Given the description of an element on the screen output the (x, y) to click on. 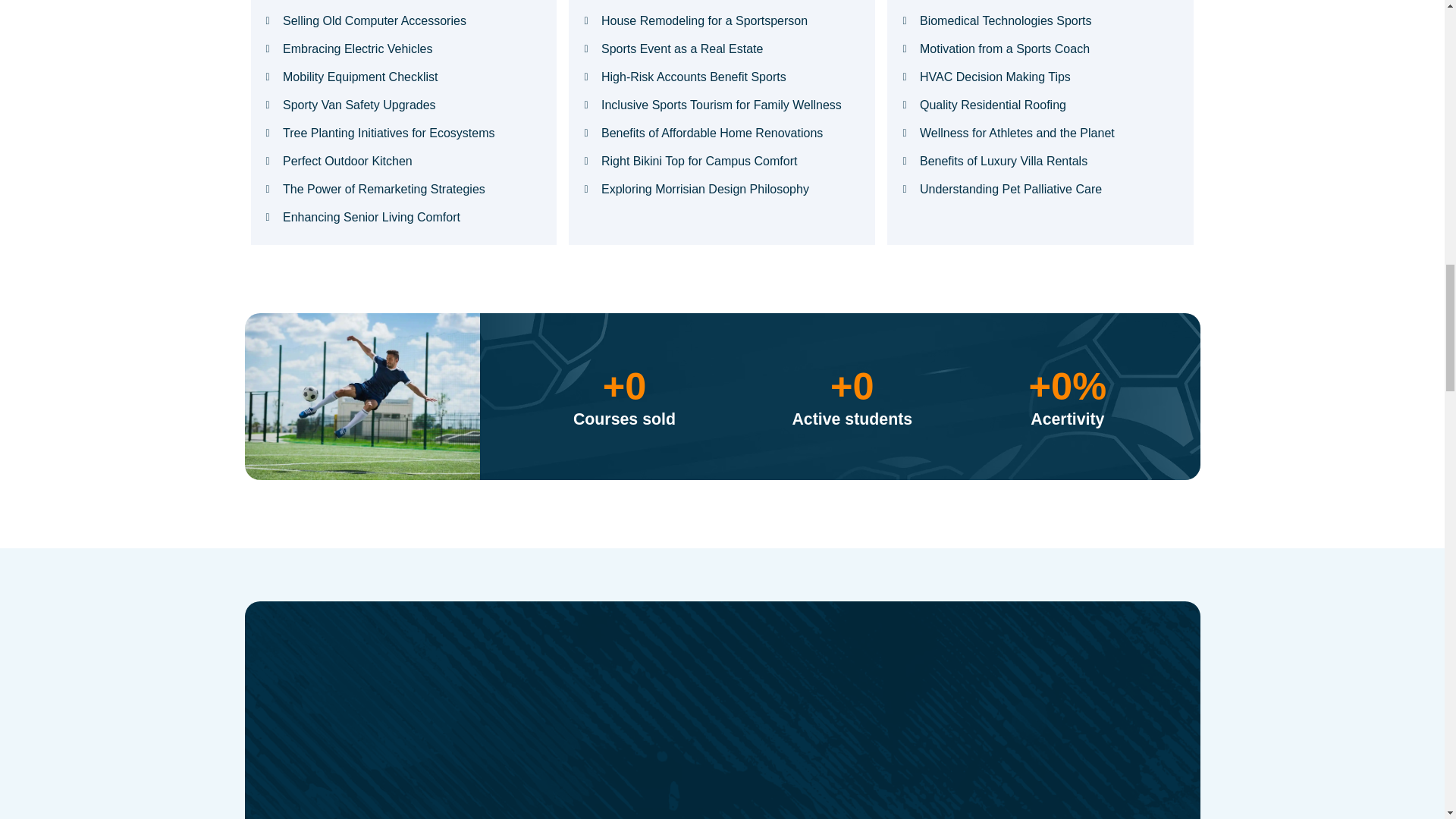
Quality Residential Roofing (1039, 105)
Sports Event as a Real Estate (721, 48)
Wellness for Athletes and the Planet (1039, 133)
Right Bikini Top for Campus Comfort (721, 161)
Stretching Is Damaging Your Running (402, 2)
Baseball Equipment for Runners (1039, 2)
Tree Planting Initiatives for Ecosystems (402, 133)
Mobility Equipment Checklist (402, 77)
HVAC Decision Making Tips (1039, 77)
Perfect Brows for Athletes (721, 2)
Benefits of Luxury Villa Rentals (1039, 161)
Motivation from a Sports Coach (1039, 48)
High-Risk Accounts Benefit Sports (721, 77)
Perfect Outdoor Kitchen (402, 161)
Biomedical Technologies Sports (1039, 21)
